Given the description of an element on the screen output the (x, y) to click on. 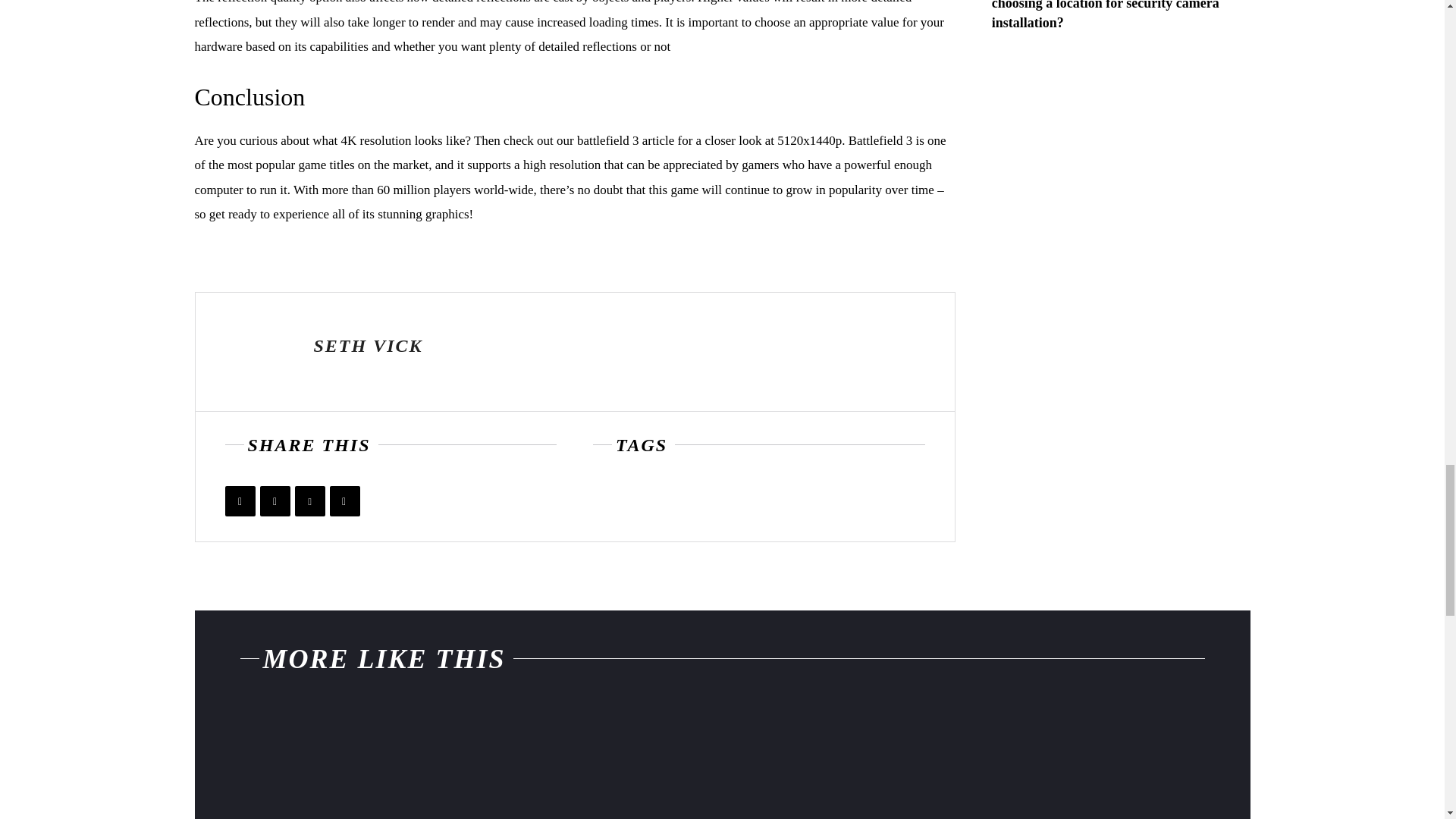
SETH VICK (368, 345)
Twitter (274, 501)
Seth Vick (254, 351)
Facebook (239, 501)
Pinterest (309, 501)
Mix (344, 501)
